Given the description of an element on the screen output the (x, y) to click on. 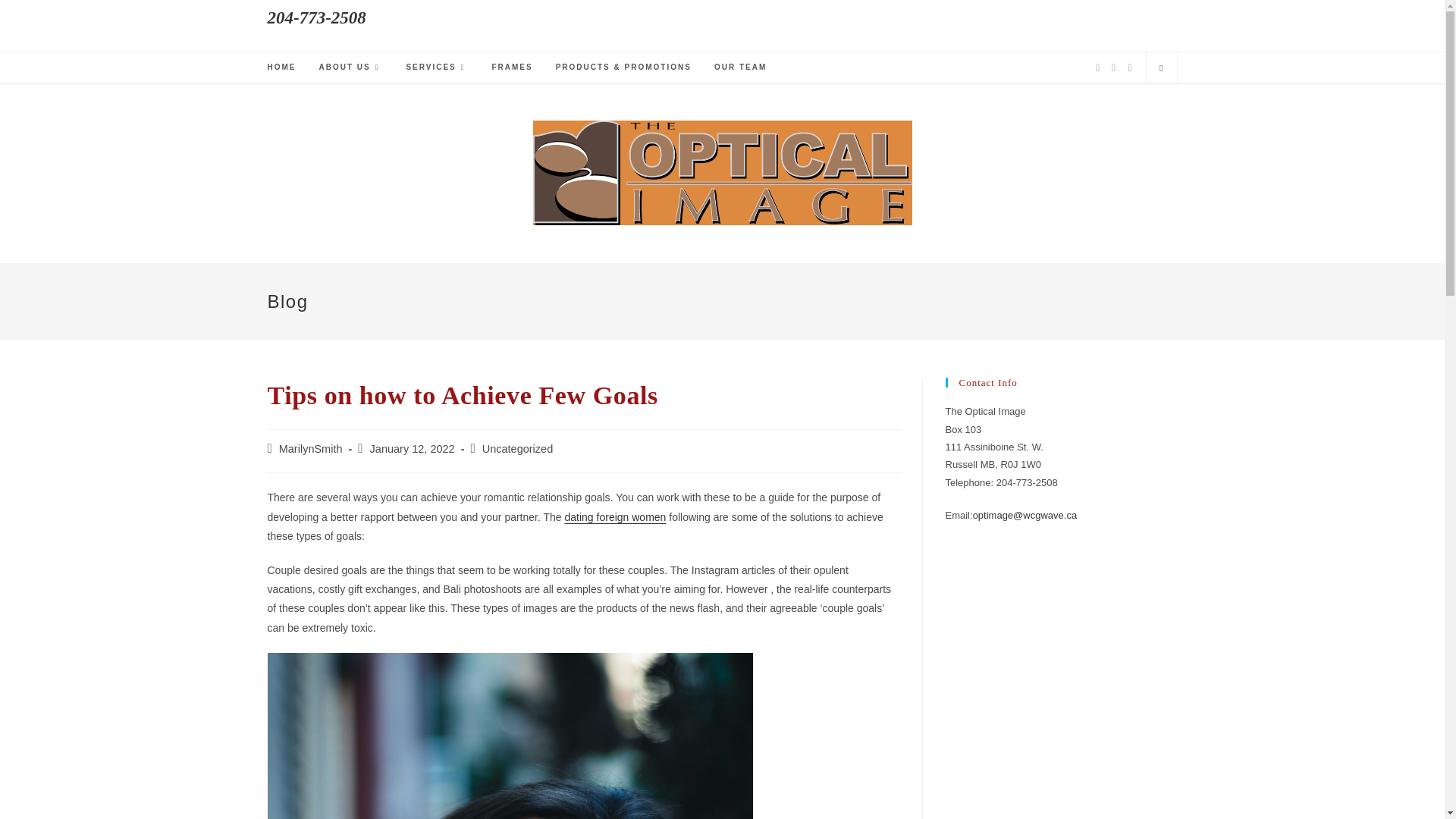
OUR TEAM (740, 67)
FRAMES (511, 67)
SERVICES (437, 67)
Posts by MarilynSmith (310, 449)
ABOUT US (350, 67)
HOME (281, 67)
dating foreign women (615, 517)
About Us (350, 67)
MarilynSmith (310, 449)
Uncategorized (517, 449)
